Given the description of an element on the screen output the (x, y) to click on. 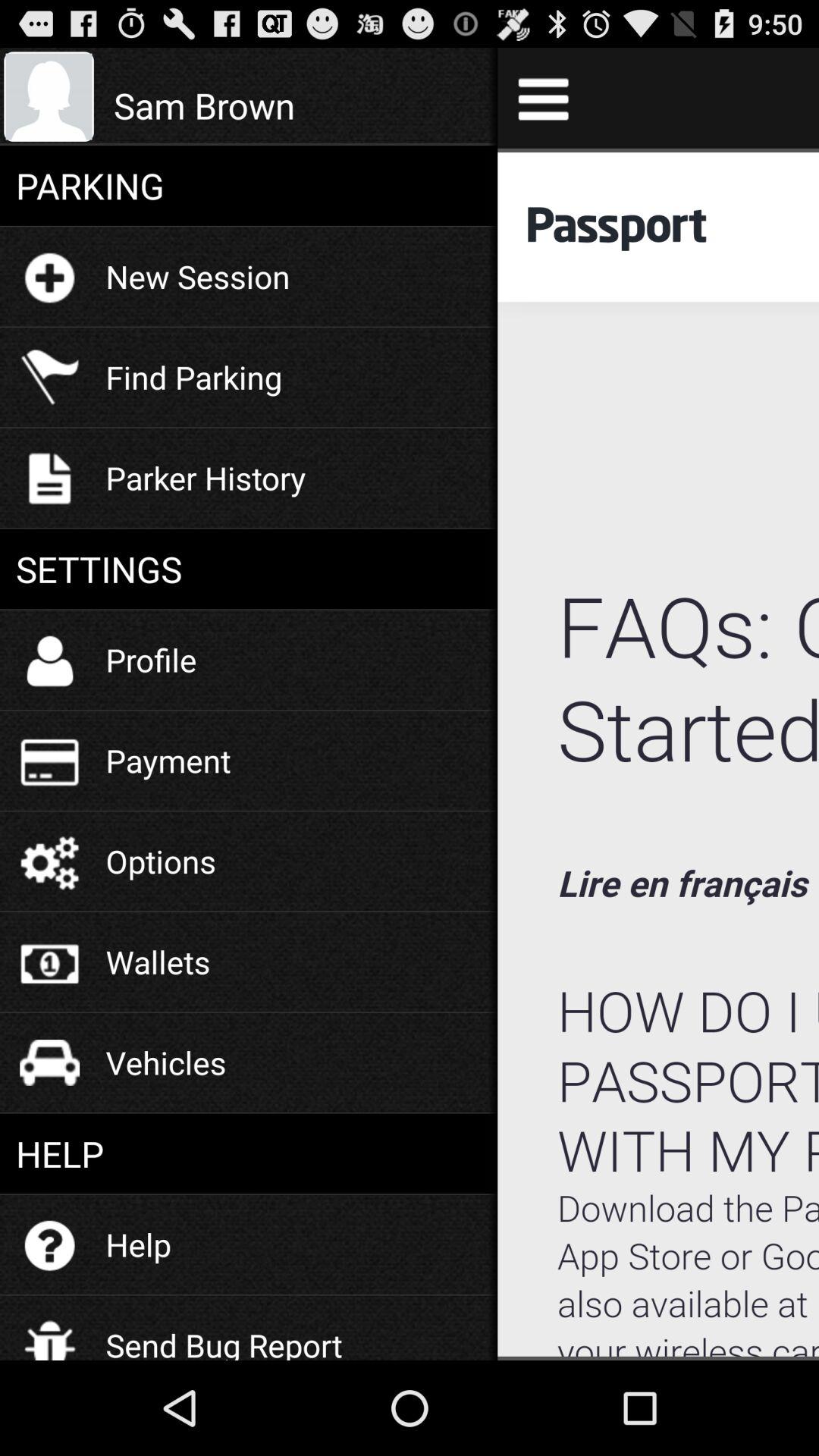
press sam
brown (297, 105)
